Given the description of an element on the screen output the (x, y) to click on. 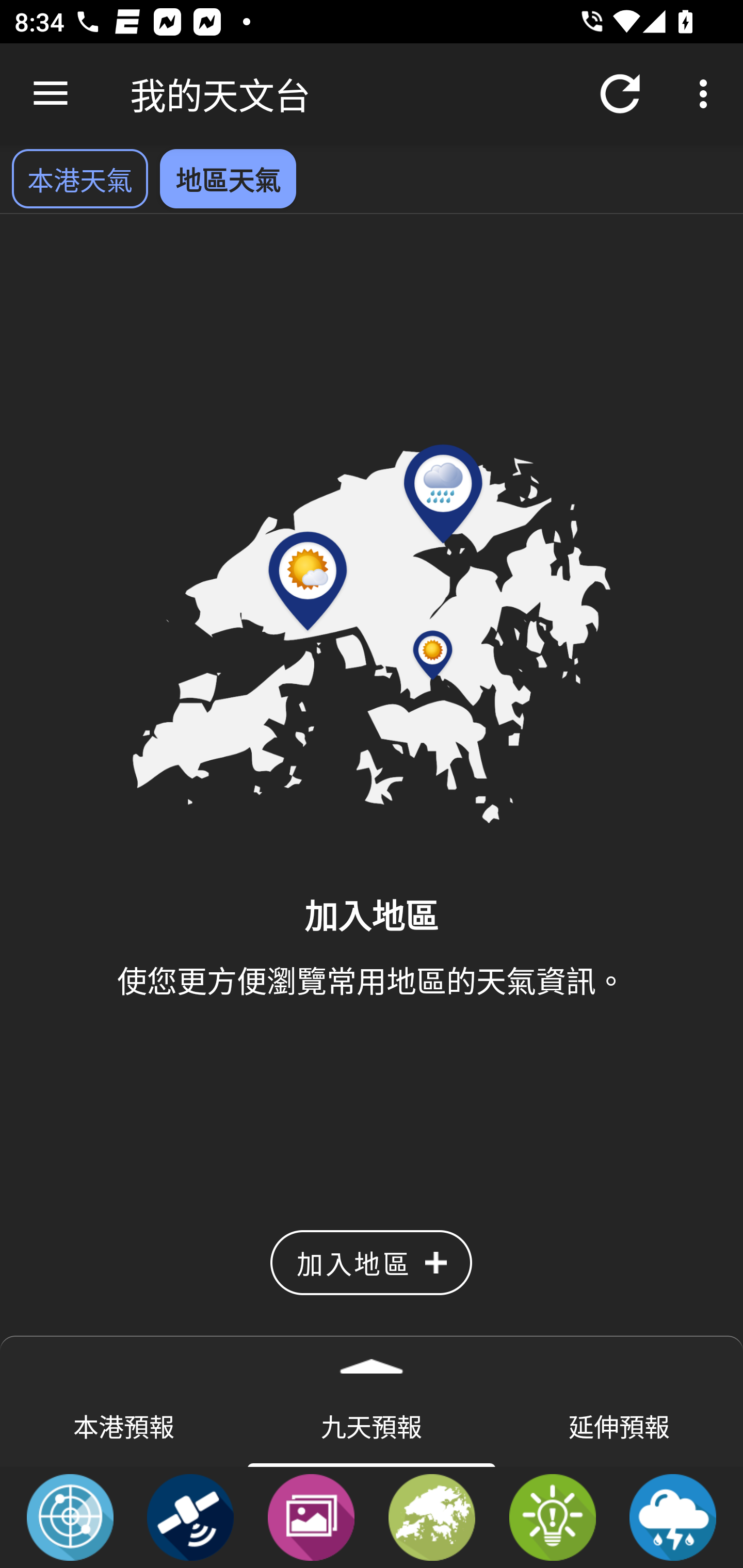
向上瀏覽 (50, 93)
重新整理 (619, 93)
更多選項 (706, 93)
本港天氣 選擇 本港天氣 (79, 178)
地區天氣 已選擇 地區天氣 (227, 178)
加入地區 (370, 1262)
展開 (371, 1358)
本港預報 (123, 1424)
延伸預報 (619, 1424)
雷達圖像 (69, 1516)
衛星圖像 (190, 1516)
天氣照片 (310, 1516)
分區天氣 (431, 1516)
天氣提示 (551, 1516)
定點降雨及閃電預報 (672, 1516)
